Given the description of an element on the screen output the (x, y) to click on. 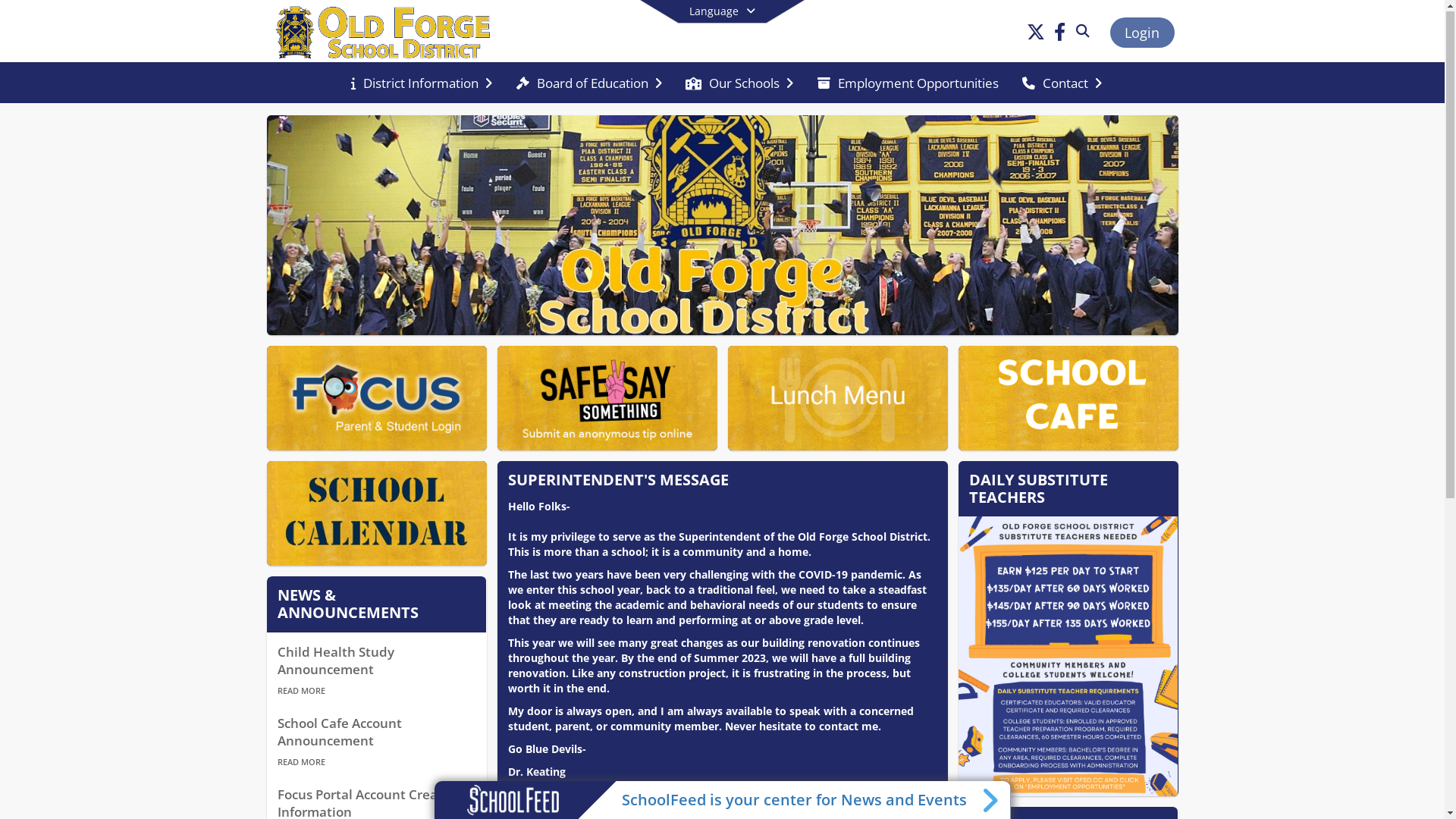
Language Element type: text (721, 11)
  Element type: hover (376, 513)
District Information Element type: text (421, 83)
Click here for MySchool Bucks Element type: hover (1068, 398)
Click here to login to Fous Element type: hover (376, 398)
Contact Element type: text (1061, 83)
Login Element type: text (1141, 33)
Click here for menus Element type: hover (837, 398)
Board of Education Element type: text (588, 83)
Safe2Say Element type: hover (607, 398)
Welcome to Old Forge School District Element type: hover (722, 225)
Old Forge School District Element type: hover (386, 32)
Our Schools Element type: text (738, 83)
Child Health Study Announcement
READ MORE Element type: text (376, 673)
NEWS & ANNOUNCEMENTS Element type: text (347, 605)
School Cafe Account Announcement
READ MORE Element type: text (376, 745)
Employment Opportunities Element type: text (907, 83)
